Given the description of an element on the screen output the (x, y) to click on. 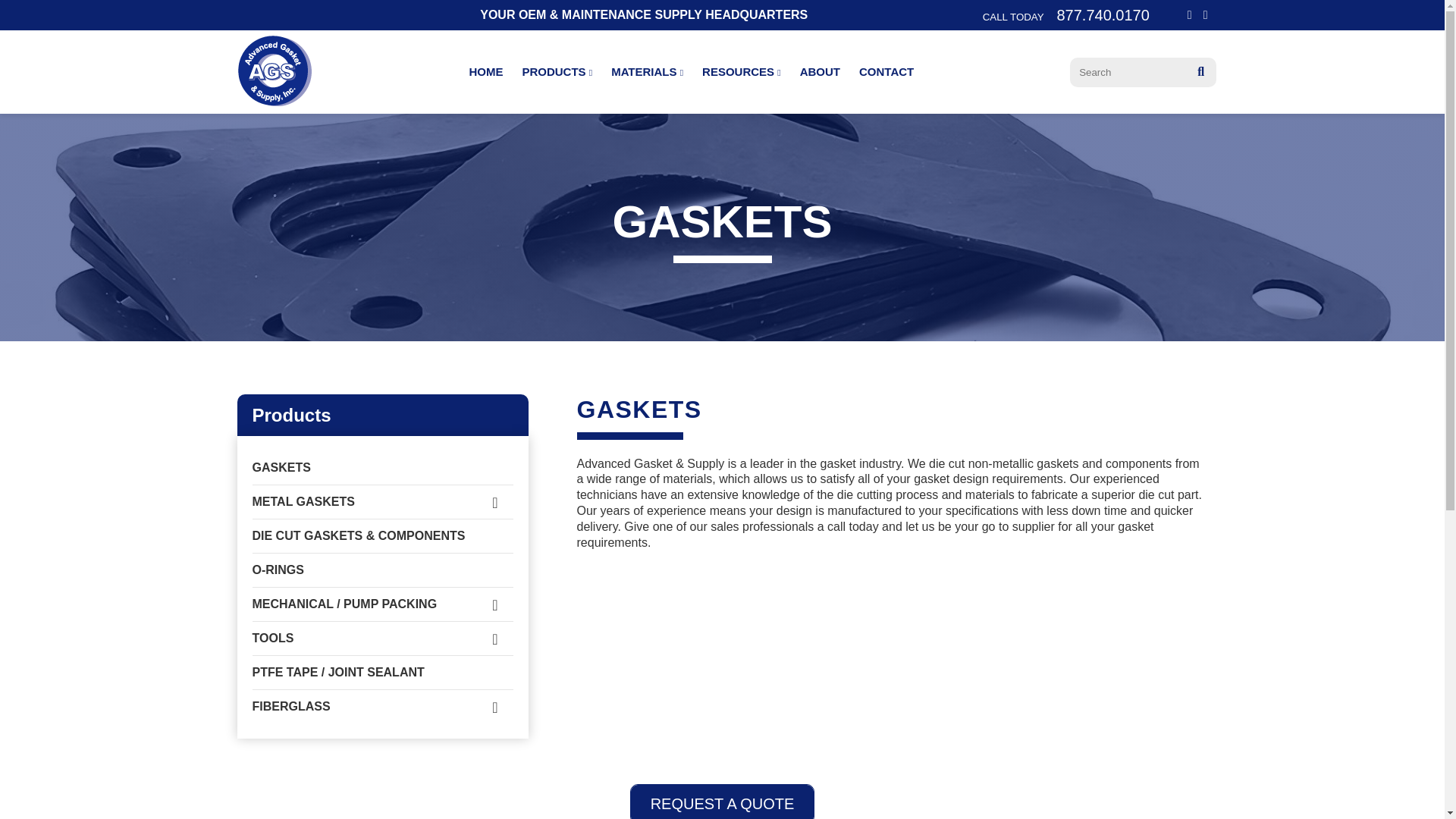
TOOLS (381, 638)
METAL GASKETS (381, 501)
PRODUCTS (556, 71)
RESOURCES (740, 71)
HOME (485, 71)
ABOUT (819, 71)
MATERIALS (646, 71)
O-RINGS (381, 570)
GASKETS (381, 467)
CONTACT (886, 71)
